Given the description of an element on the screen output the (x, y) to click on. 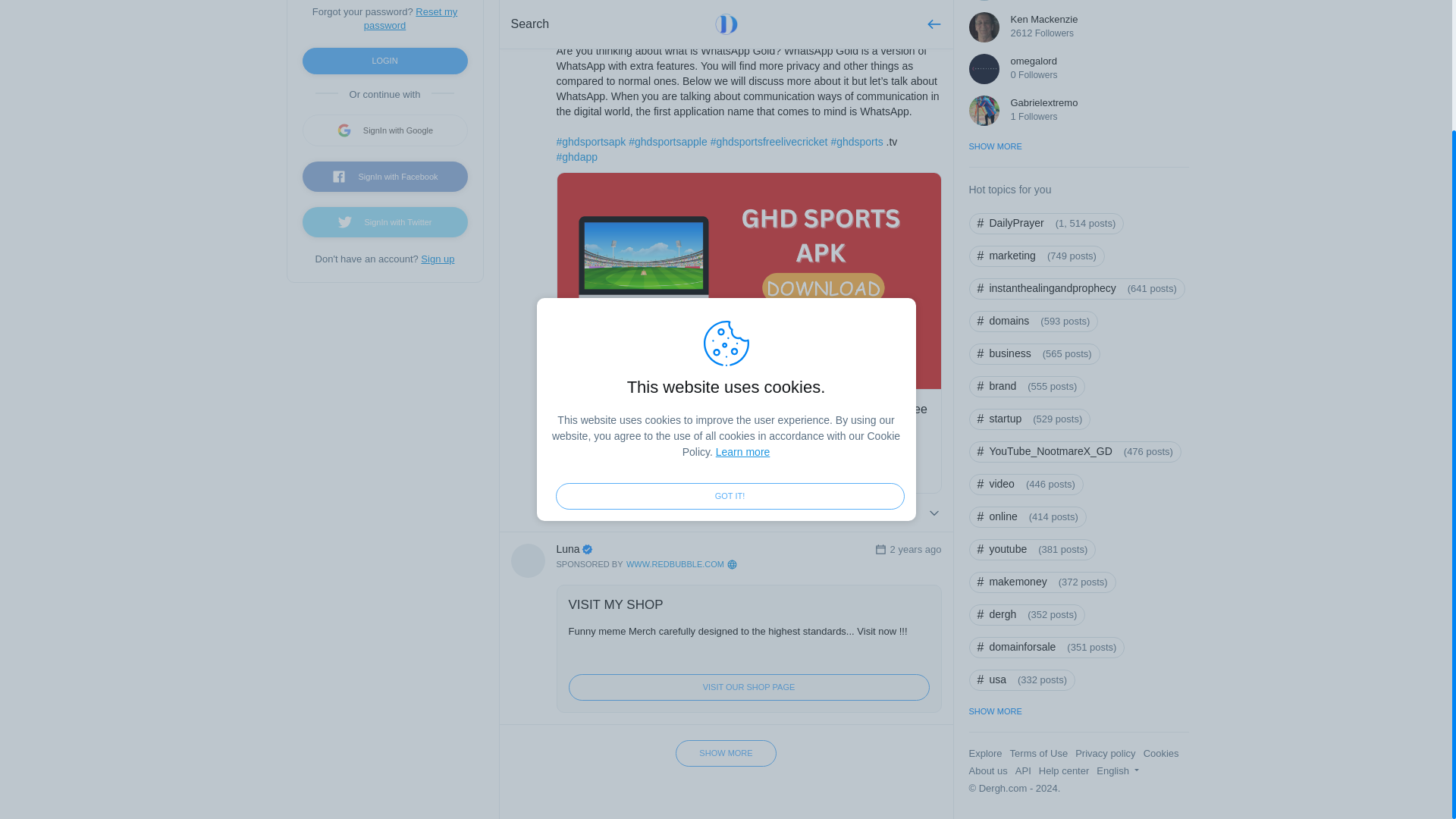
Sign up (437, 258)
SignIn with Facebook (384, 176)
0 (762, 512)
Luna (716, 548)
0 (665, 512)
Avantika Desai apkslink (612, 2)
Sponsored (647, 564)
SignIn with Twitter (384, 222)
0 (570, 512)
SignIn with Google (384, 130)
